Given the description of an element on the screen output the (x, y) to click on. 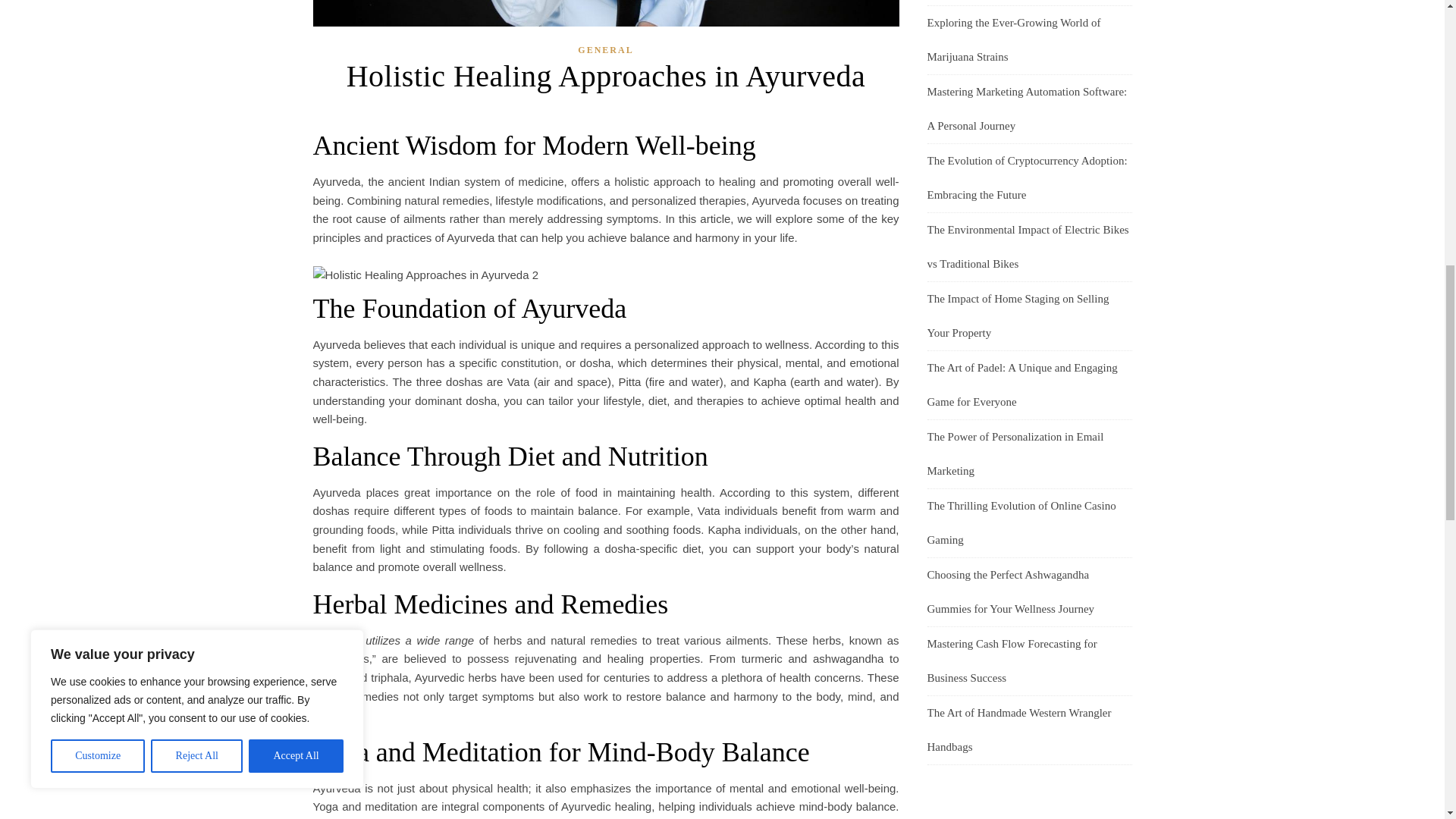
GENERAL (605, 49)
